Given the description of an element on the screen output the (x, y) to click on. 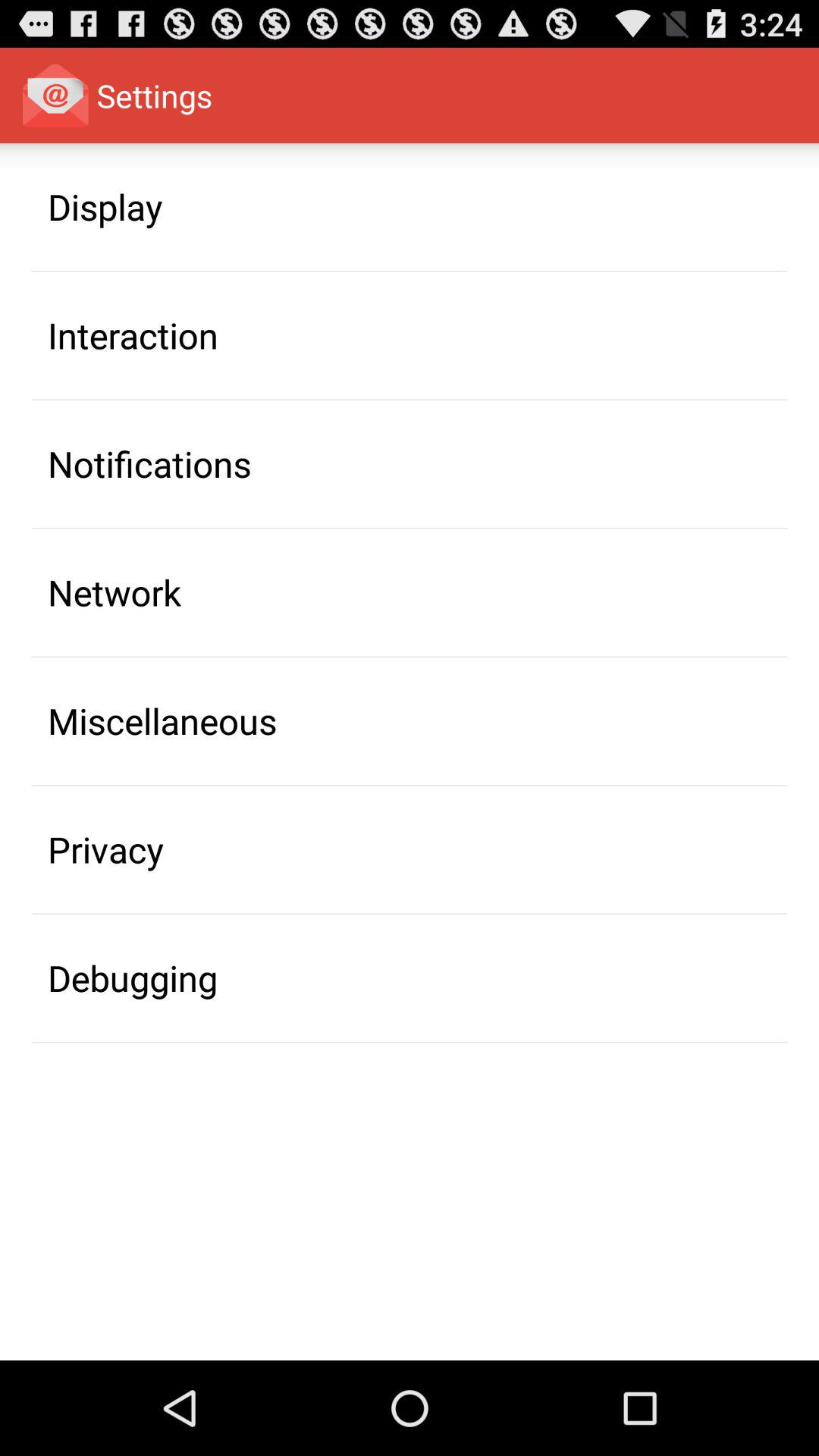
flip until debugging icon (132, 977)
